Given the description of an element on the screen output the (x, y) to click on. 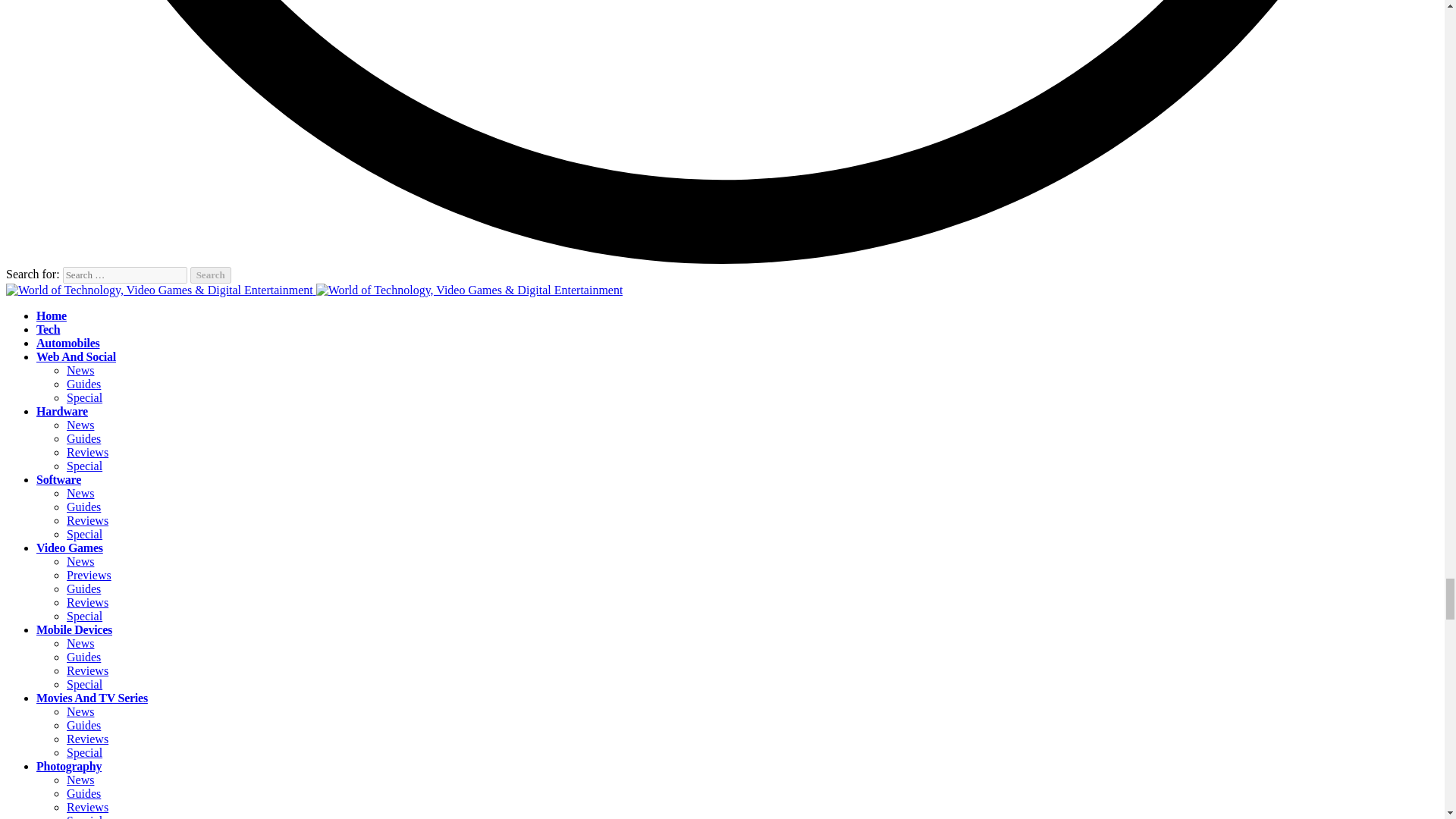
Search (210, 274)
Search (210, 274)
